Given the description of an element on the screen output the (x, y) to click on. 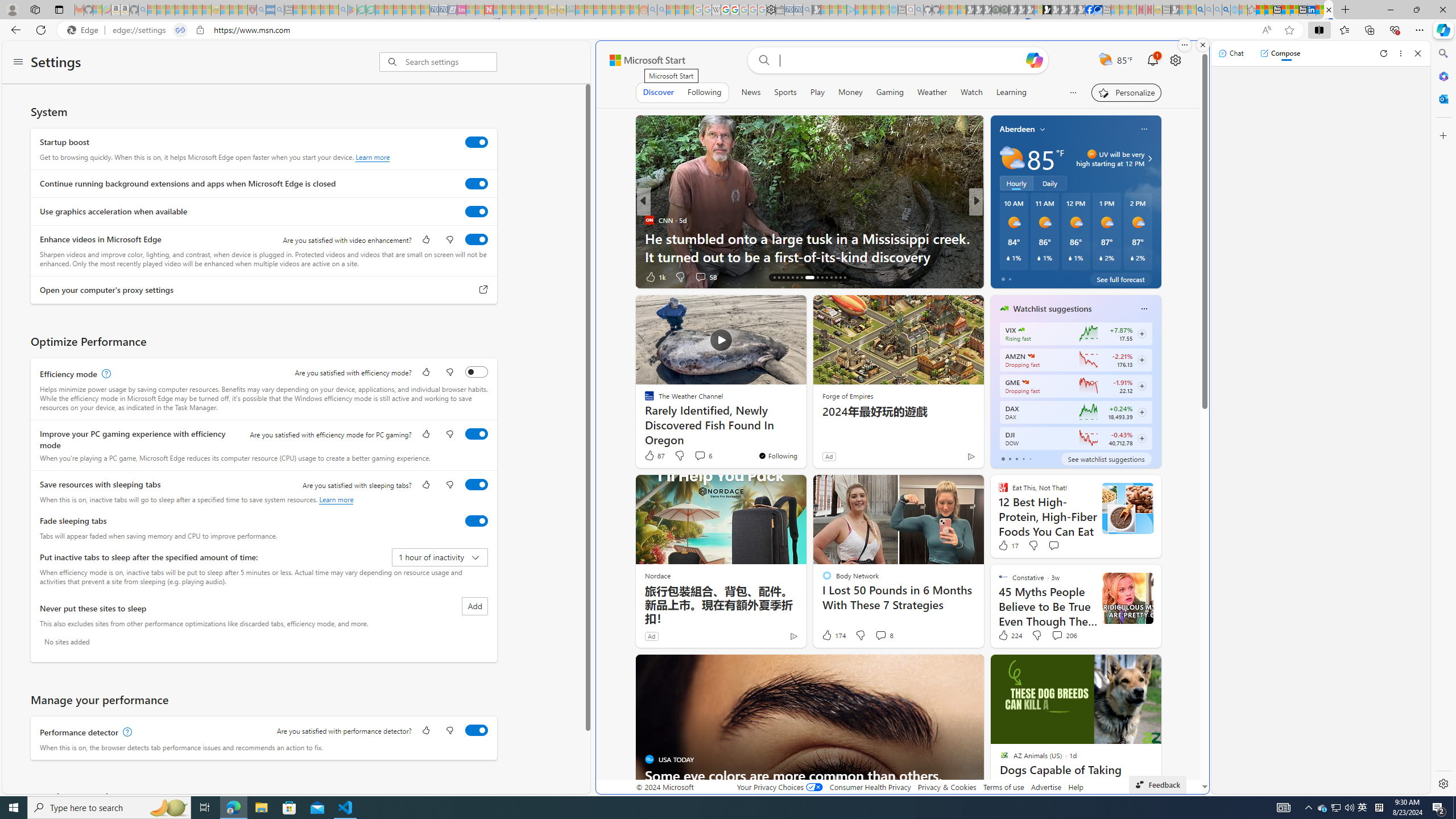
Add site to never put these sites to sleep list (474, 606)
Discover (658, 92)
Weather (931, 92)
Fade sleeping tabs (476, 520)
72 Like (1005, 276)
AMAZON.COM, INC. (1030, 355)
Compose (1279, 52)
4 Foods You Can Feed Hummingbirds Besides Sugar Water (1159, 247)
The Largest Hammerhead Shark Ever Seen (1159, 256)
Privacy & Cookies (946, 786)
